Given the description of an element on the screen output the (x, y) to click on. 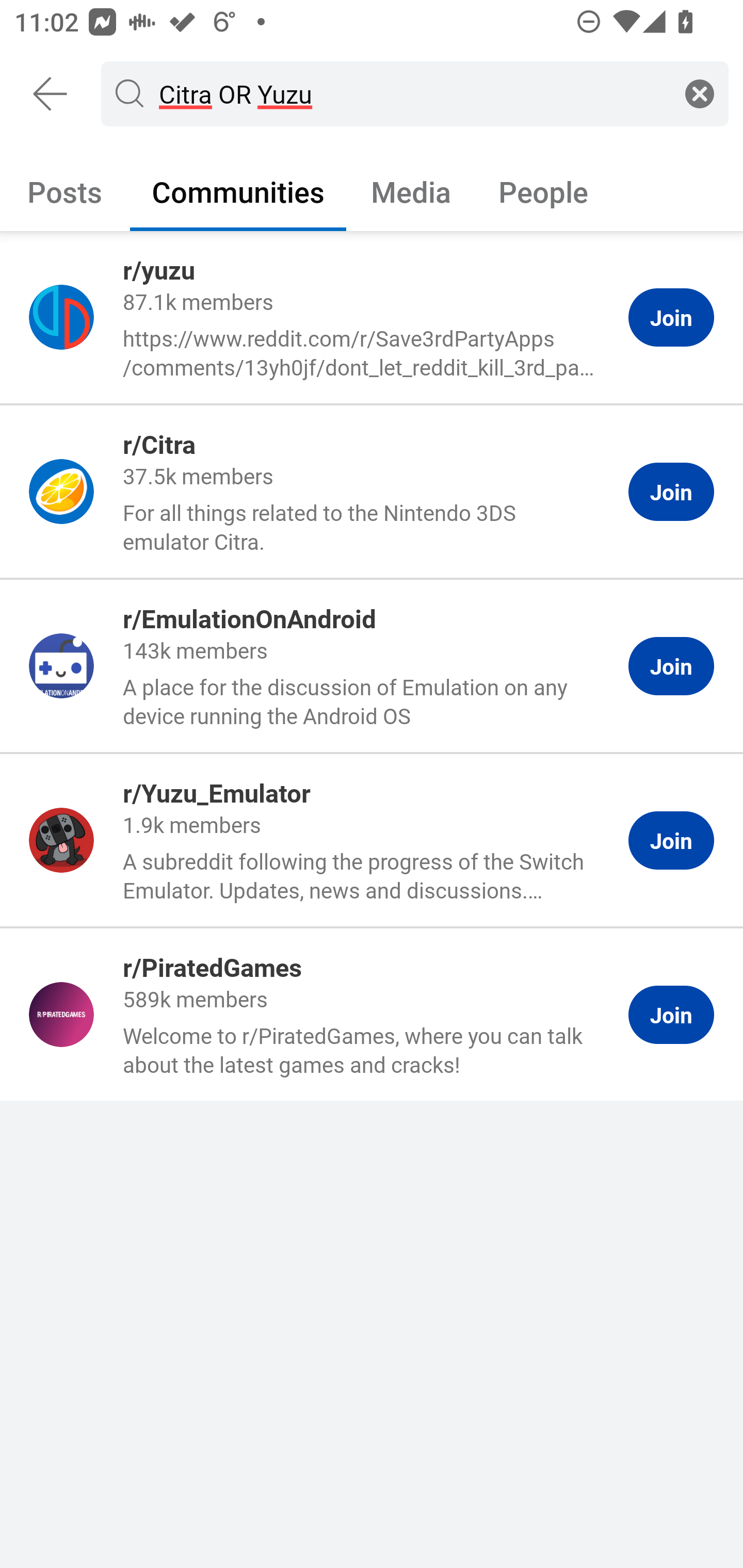
Back (50, 93)
Citra OR Yuzu (410, 93)
Clear search (699, 93)
Posts (65, 191)
Media (411, 191)
People (542, 191)
Join (670, 317)
Join (670, 491)
Join (670, 666)
Join (670, 841)
Join (670, 1015)
